Given the description of an element on the screen output the (x, y) to click on. 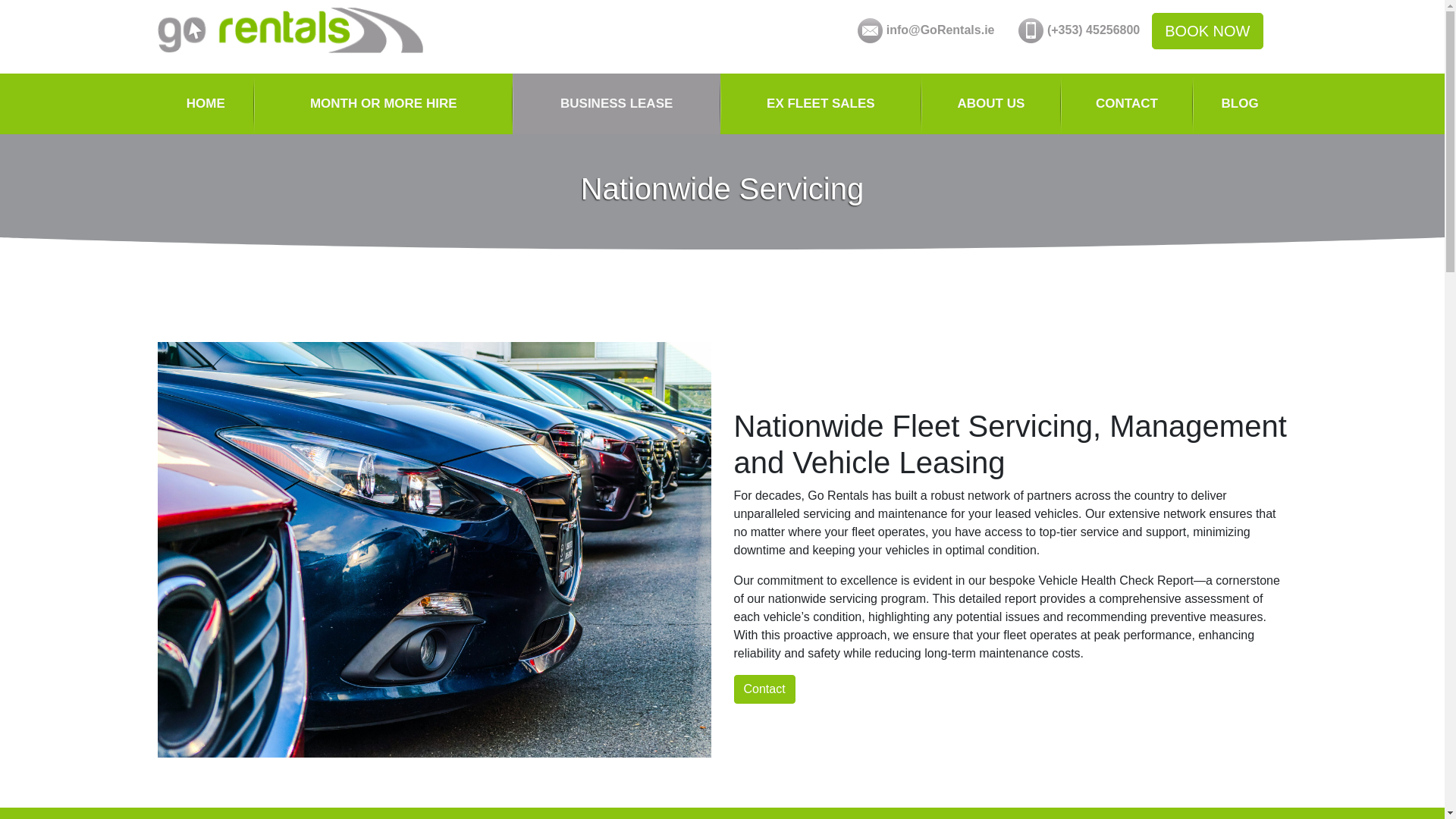
BLOG (1239, 103)
Contact (763, 688)
EX FLEET SALES (820, 103)
Go Rentals (290, 30)
ABOUT US (991, 103)
CONTACT (1126, 103)
BOOK NOW (1206, 30)
MONTH OR MORE HIRE (382, 103)
HOME (205, 103)
BUSINESS LEASE (615, 103)
